Given the description of an element on the screen output the (x, y) to click on. 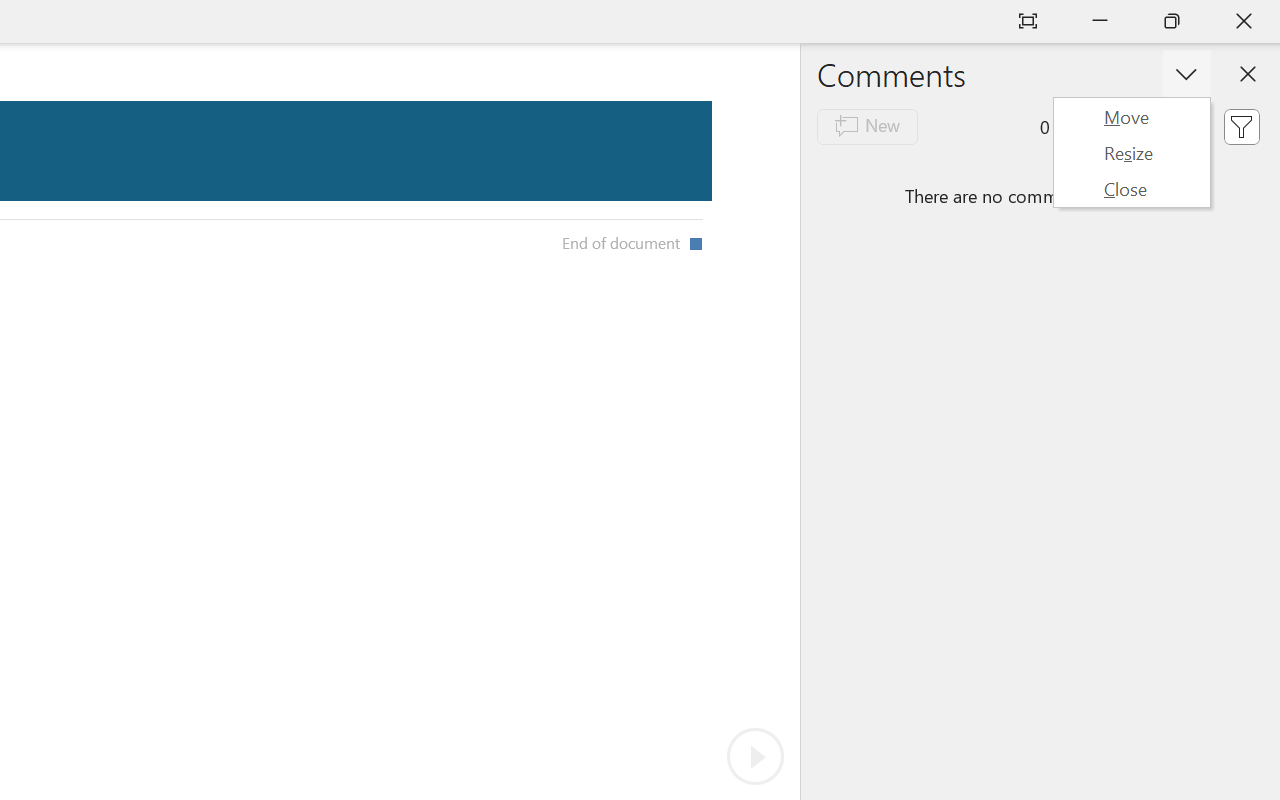
Auto-hide Reading Toolbar (1027, 21)
Resize (1131, 152)
Move (1131, 116)
New comment (866, 126)
Workpane Options Menu (1131, 152)
Filter (1241, 126)
